Given the description of an element on the screen output the (x, y) to click on. 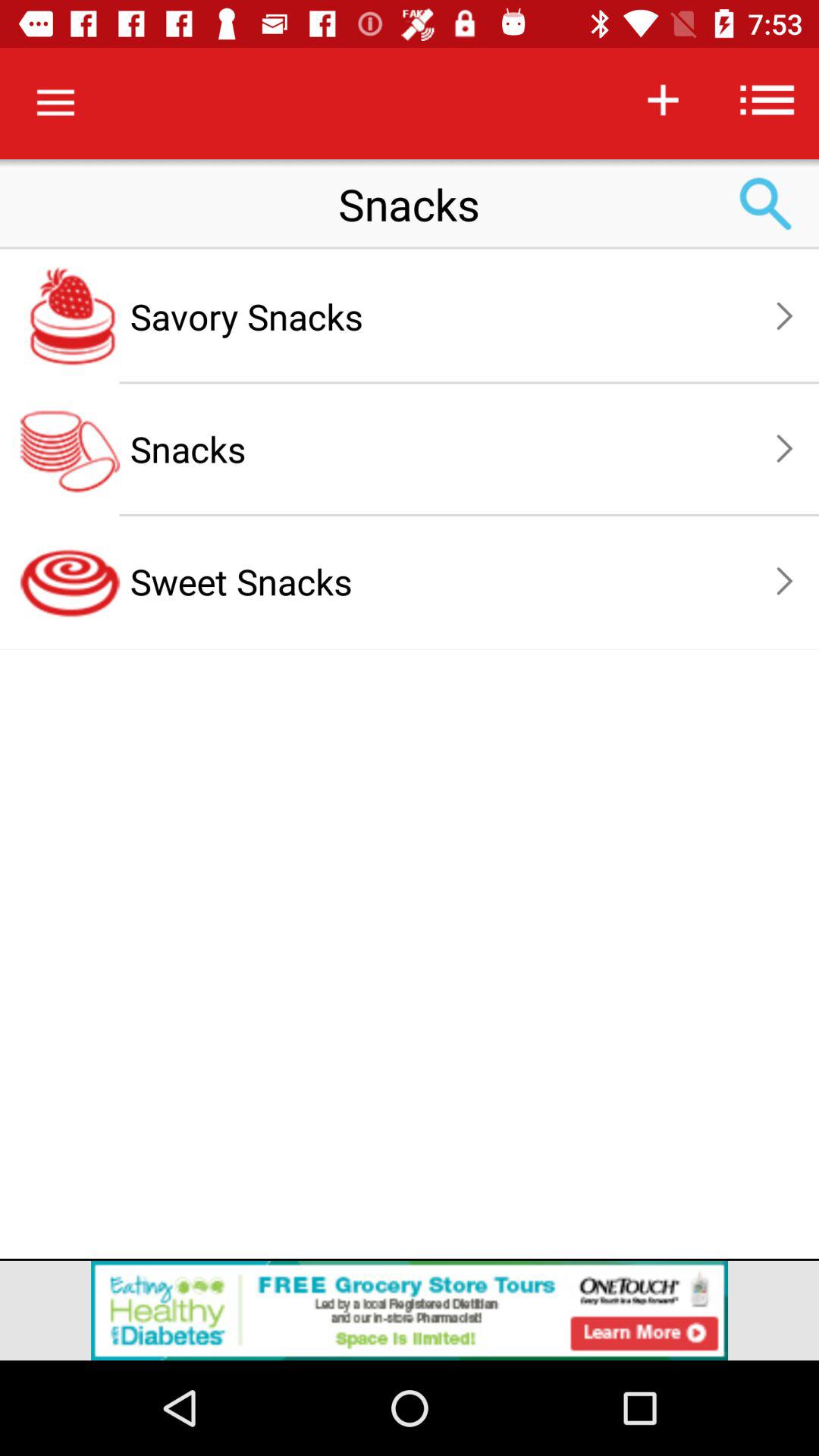
select the plus icon (662, 99)
